Given the description of an element on the screen output the (x, y) to click on. 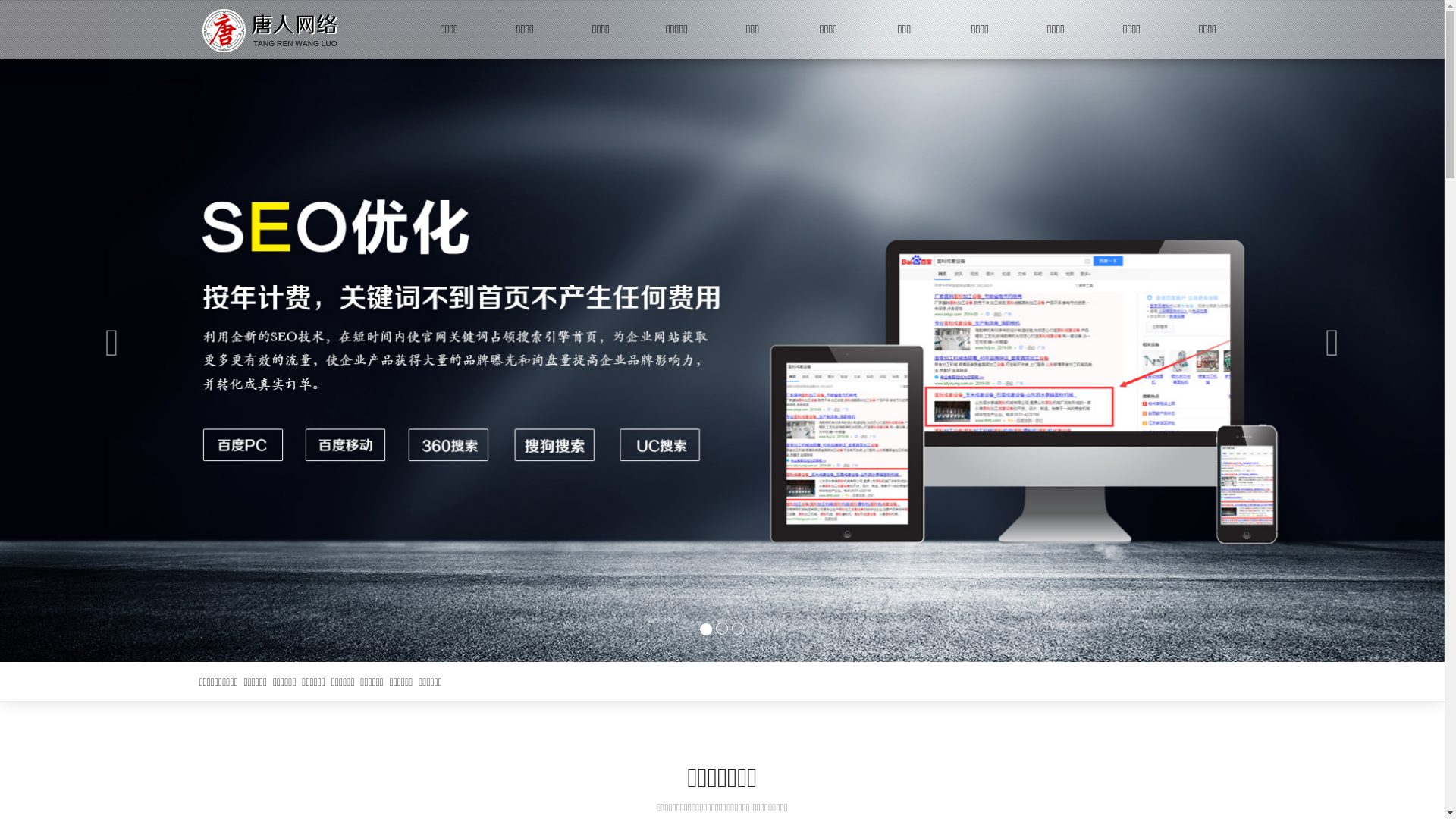
Next Element type: text (1335, 331)
Previous Element type: text (108, 331)
